Given the description of an element on the screen output the (x, y) to click on. 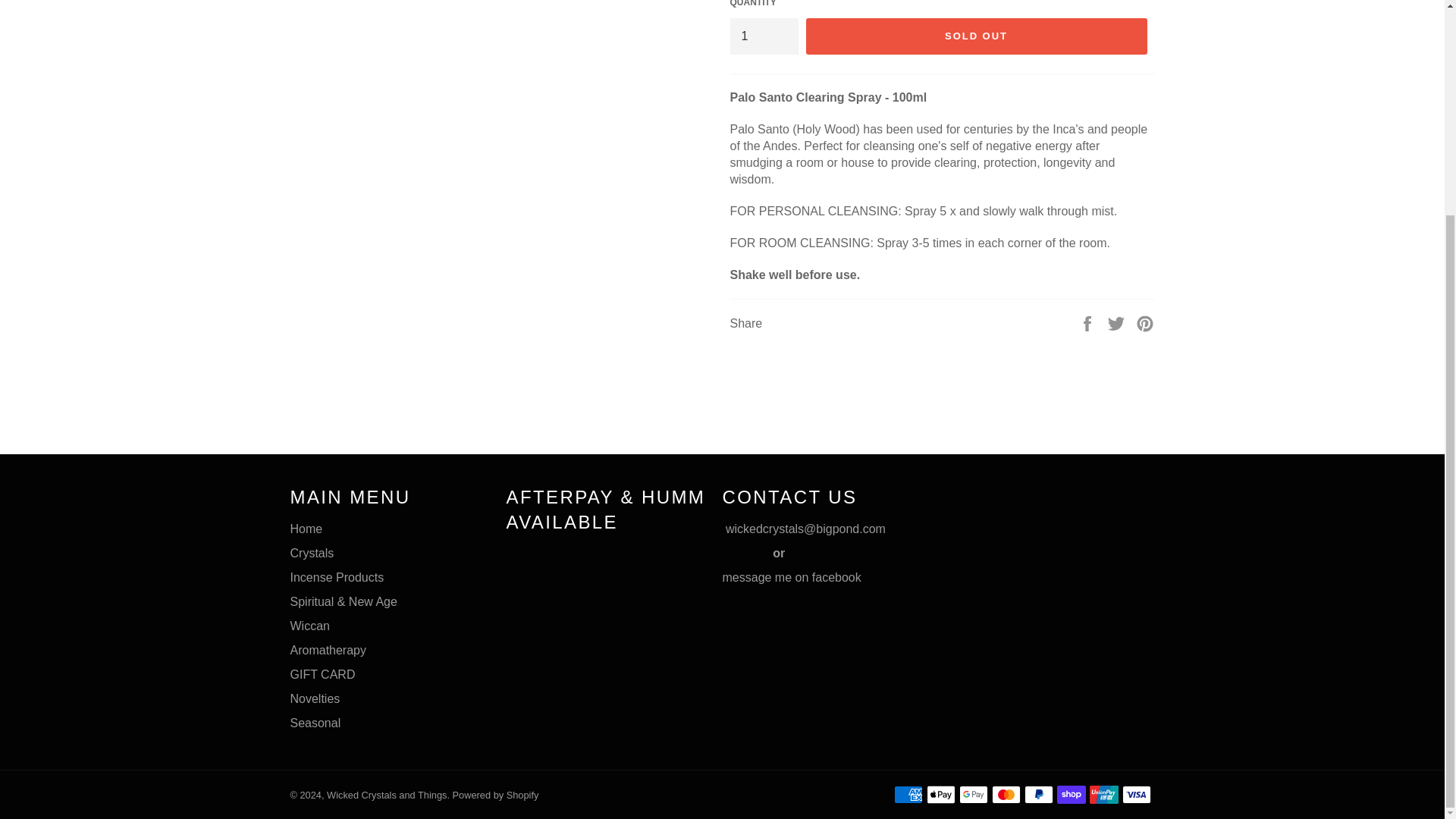
1 (763, 36)
Share on Facebook (1088, 323)
Pin on Pinterest (1144, 323)
Tweet on Twitter (1117, 323)
